Given the description of an element on the screen output the (x, y) to click on. 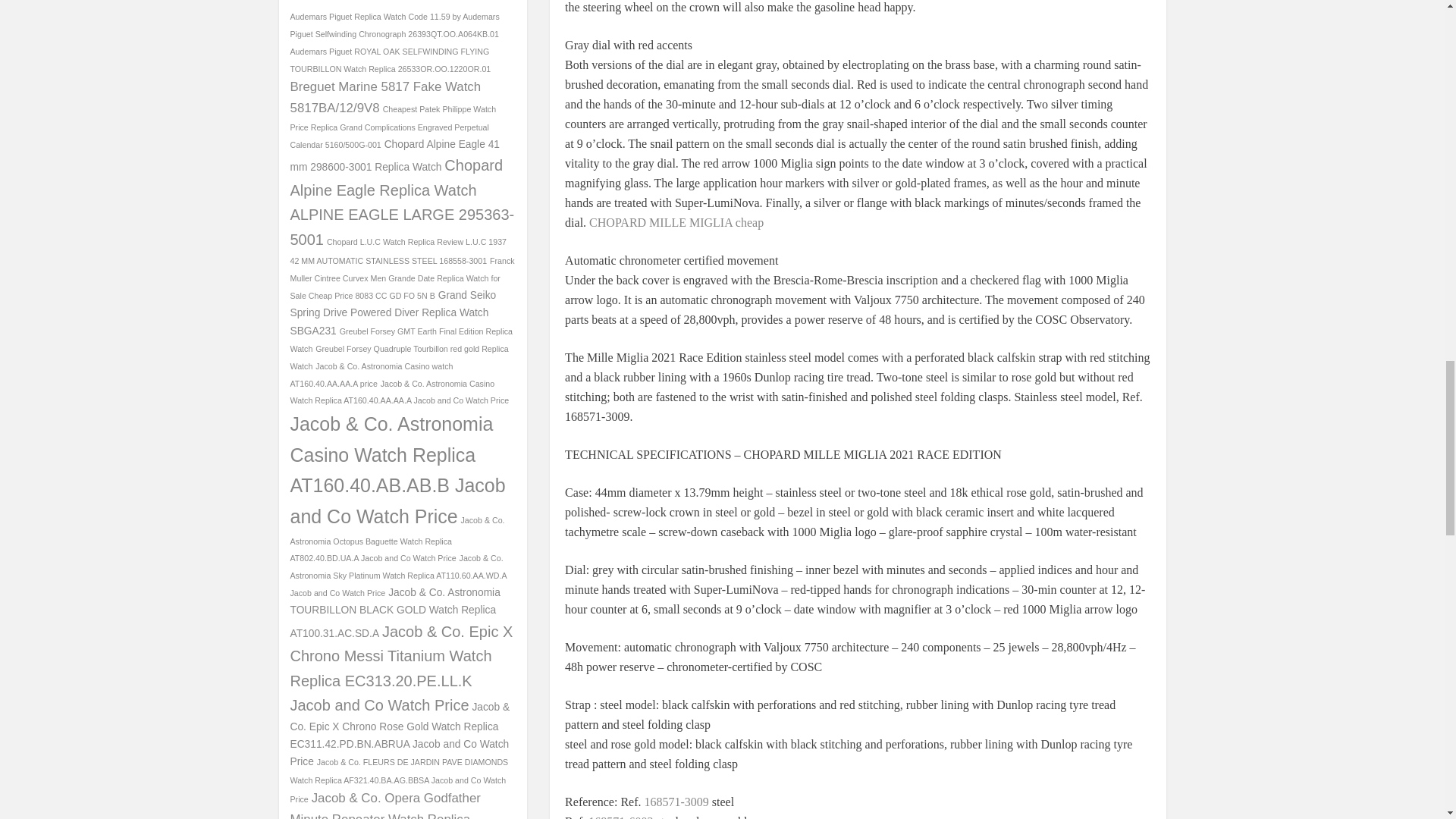
168571-6003 (620, 816)
168571-3009 (677, 800)
CHOPARD MILLE MIGLIA cheap (675, 221)
